Given the description of an element on the screen output the (x, y) to click on. 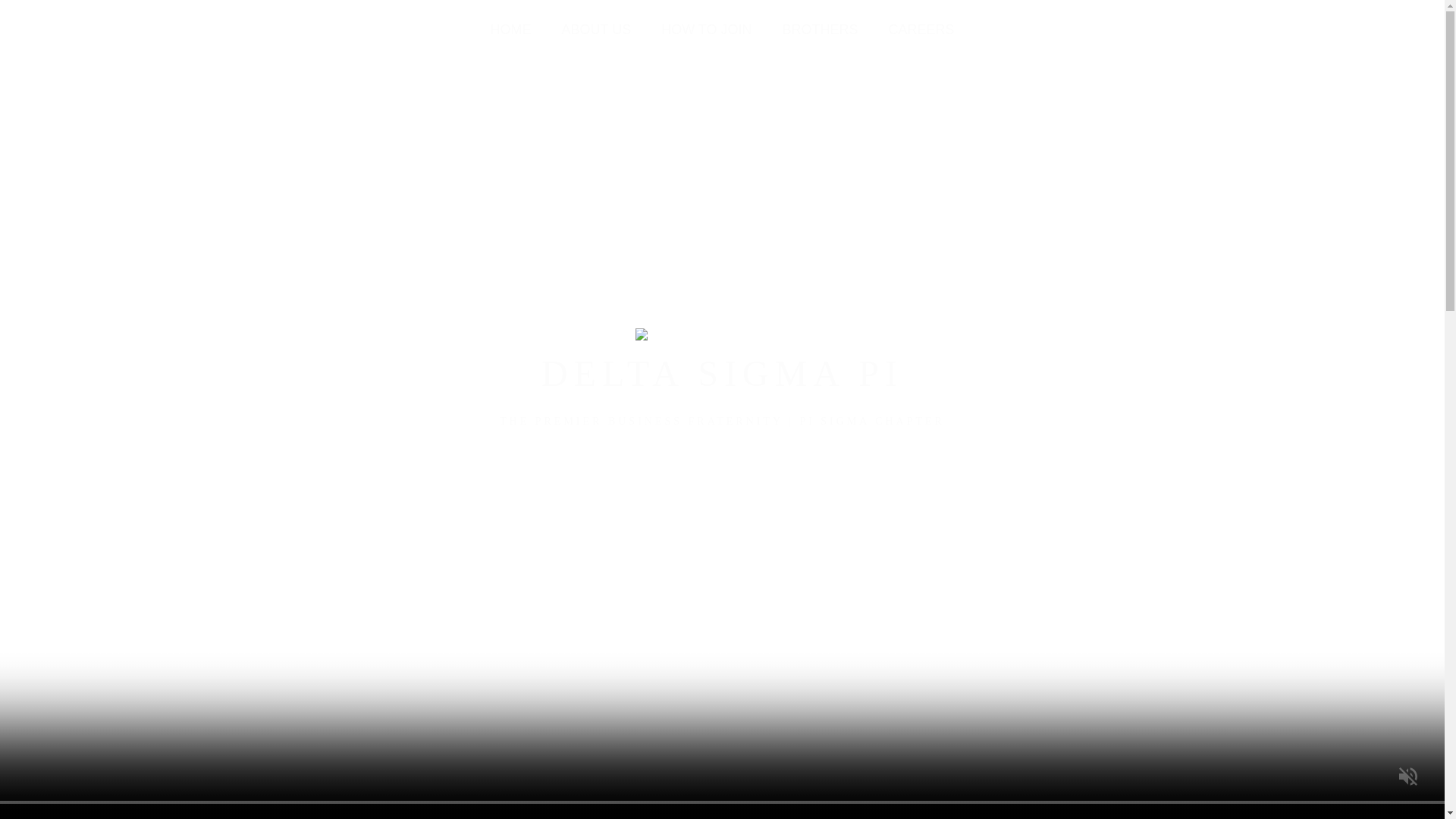
HOW TO JOIN (722, 462)
BROTHERS (819, 29)
CAREERS (921, 29)
HOW TO JOIN (706, 29)
ABOUT US (595, 29)
HOME (510, 29)
HOW TO JOIN (722, 463)
